Given the description of an element on the screen output the (x, y) to click on. 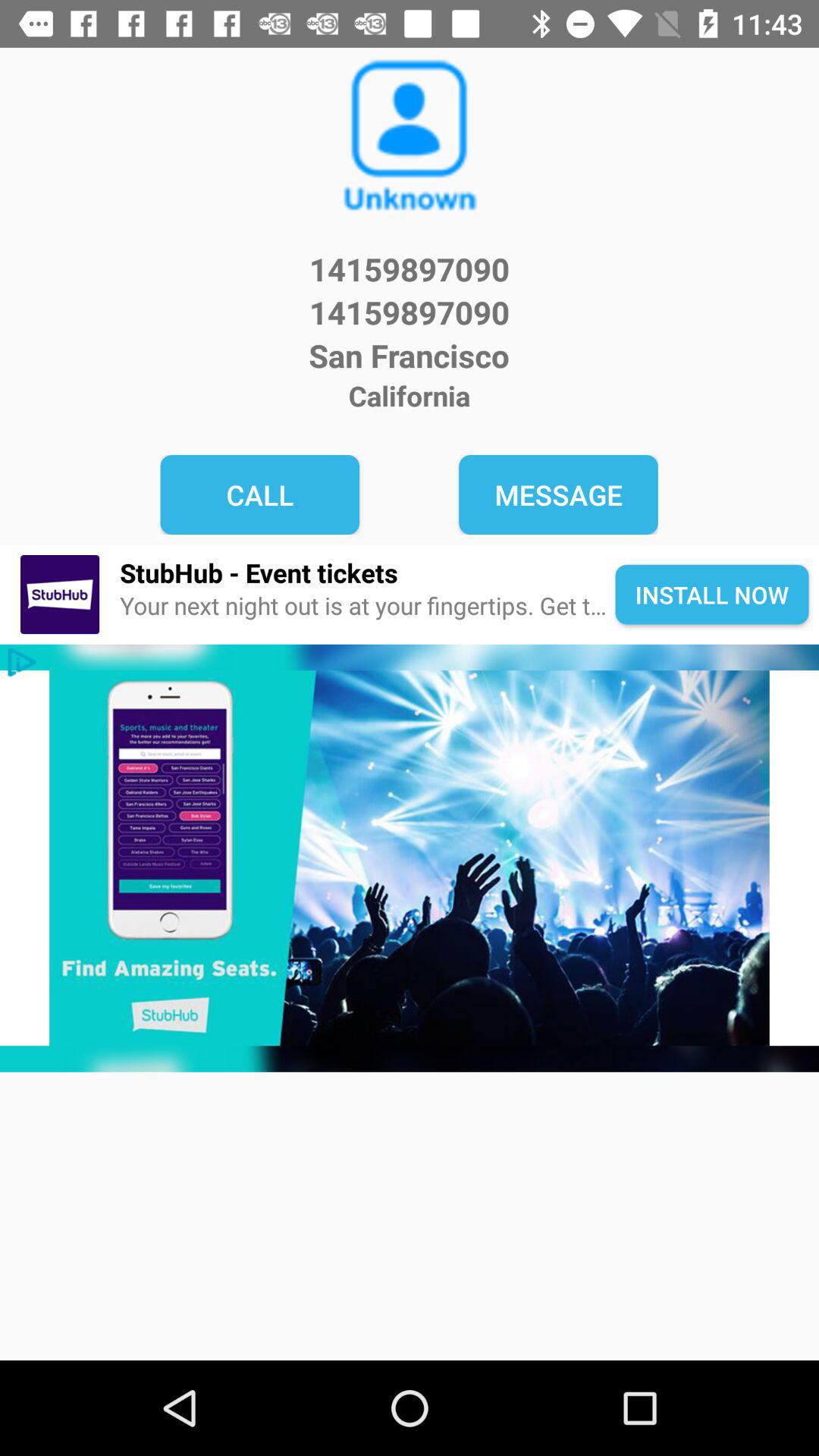
turn off item next to the message icon (259, 494)
